Given the description of an element on the screen output the (x, y) to click on. 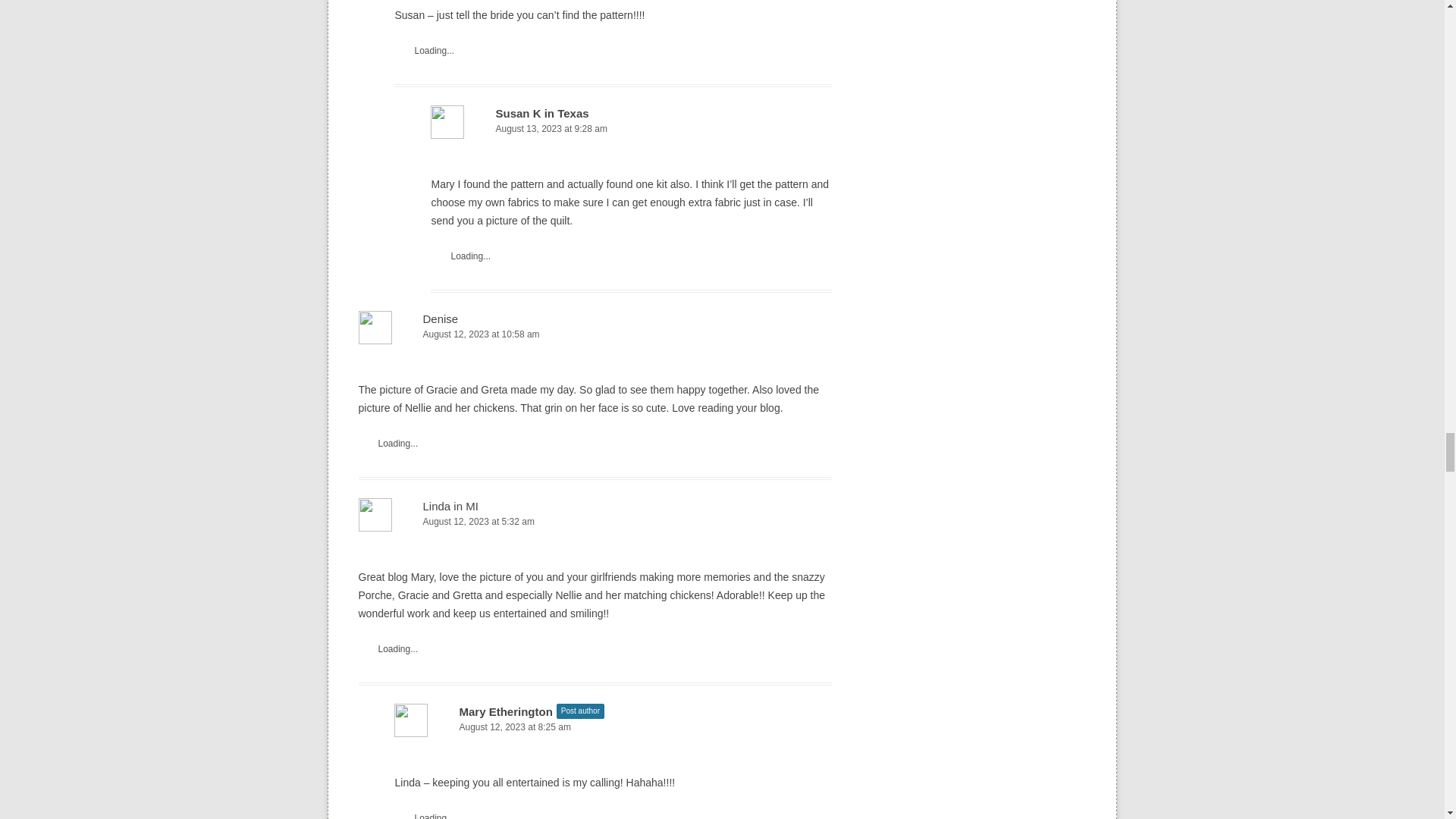
August 12, 2023 at 8:25 am (612, 727)
August 13, 2023 at 9:28 am (630, 129)
August 12, 2023 at 10:58 am (594, 334)
August 12, 2023 at 5:32 am (594, 521)
